Given the description of an element on the screen output the (x, y) to click on. 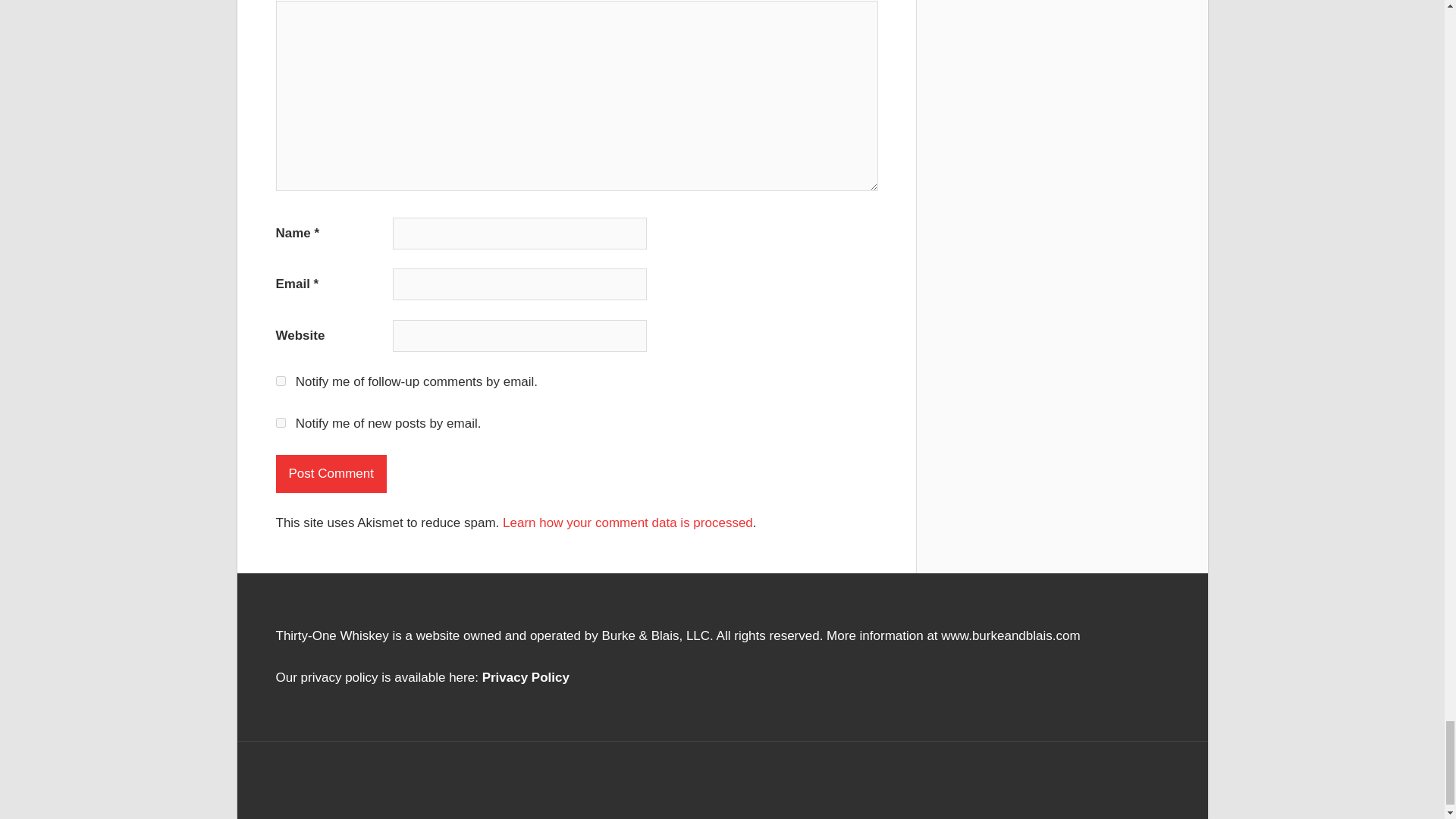
subscribe (280, 422)
Post Comment (331, 474)
subscribe (280, 380)
Post Comment (331, 474)
Learn how your comment data is processed (627, 522)
